Given the description of an element on the screen output the (x, y) to click on. 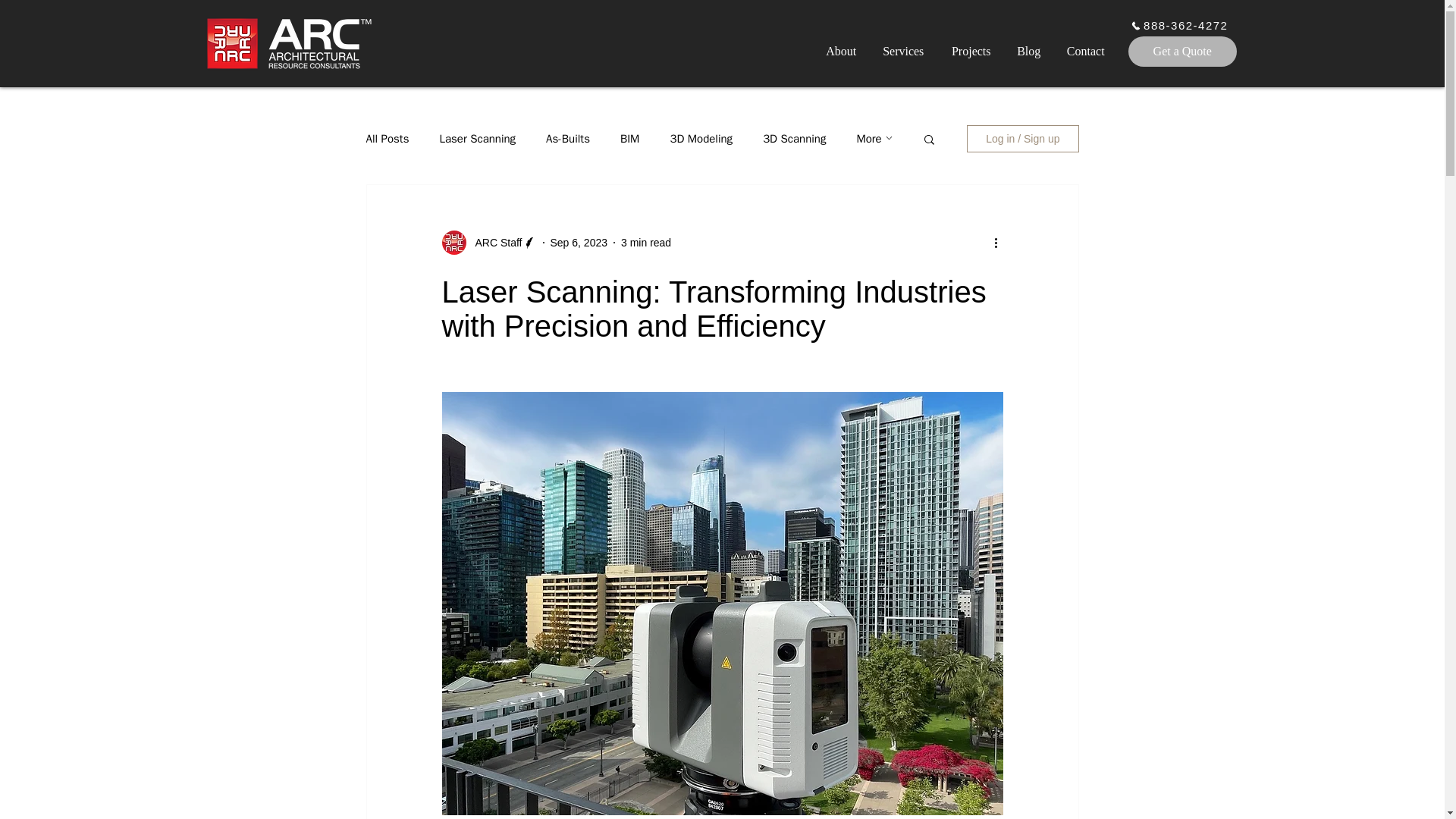
Get a Quote (1182, 51)
Sep 6, 2023 (579, 242)
3 min read (646, 242)
Laser Scanning (477, 138)
3D Modeling (700, 138)
BIM (629, 138)
As-Builts (567, 138)
Services (903, 51)
888-362-4272 (1179, 25)
Projects (970, 51)
Blog (1028, 51)
ARC Staff (493, 242)
About (841, 51)
3D Scanning (793, 138)
Contact (1085, 51)
